Given the description of an element on the screen output the (x, y) to click on. 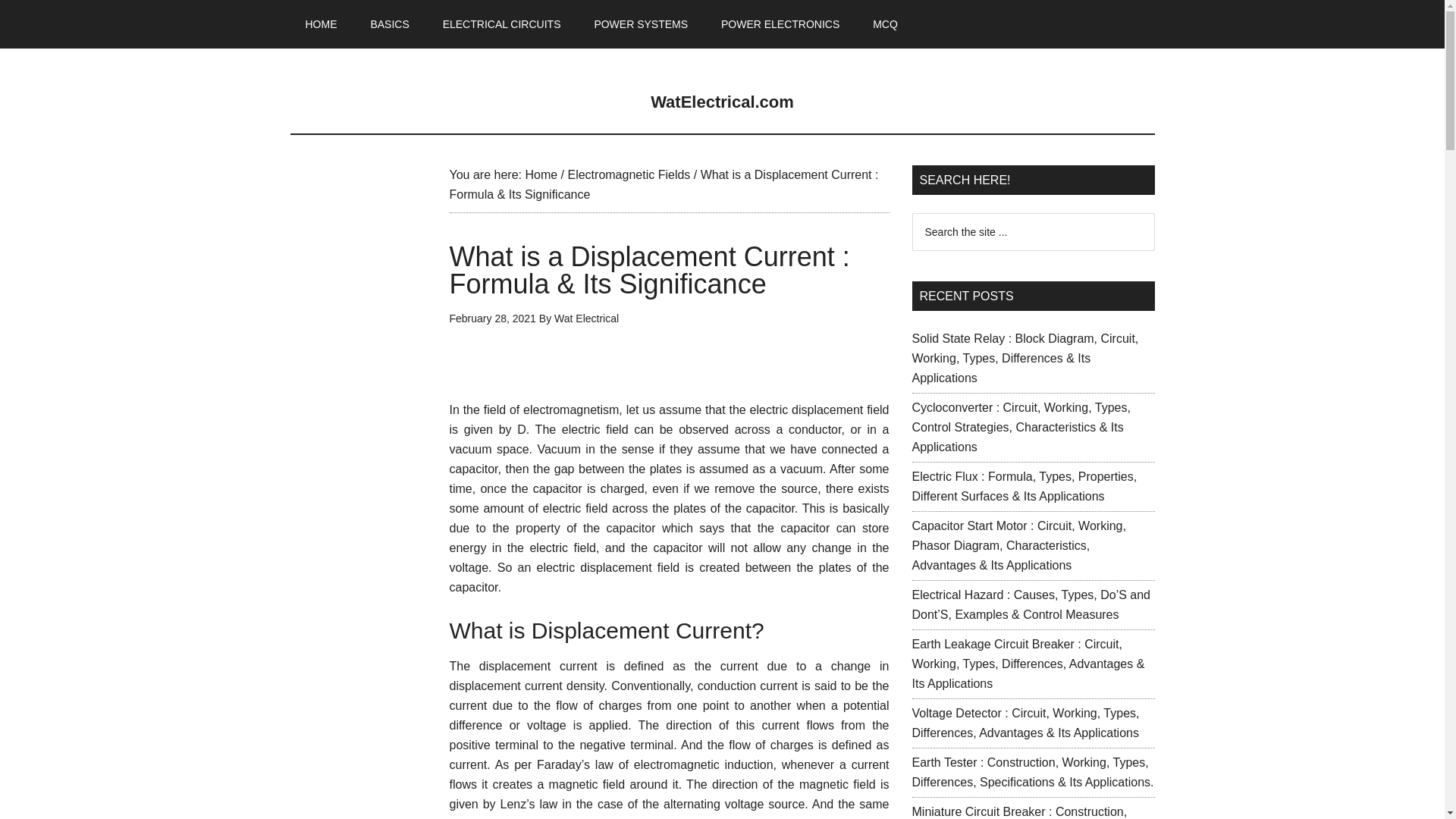
Wat Electrical (586, 318)
WatElectrical.com (721, 101)
ELECTRICAL CIRCUITS (502, 24)
POWER SYSTEMS (640, 24)
Home (540, 174)
MCQ (884, 24)
BASICS (389, 24)
POWER ELECTRONICS (780, 24)
